Given the description of an element on the screen output the (x, y) to click on. 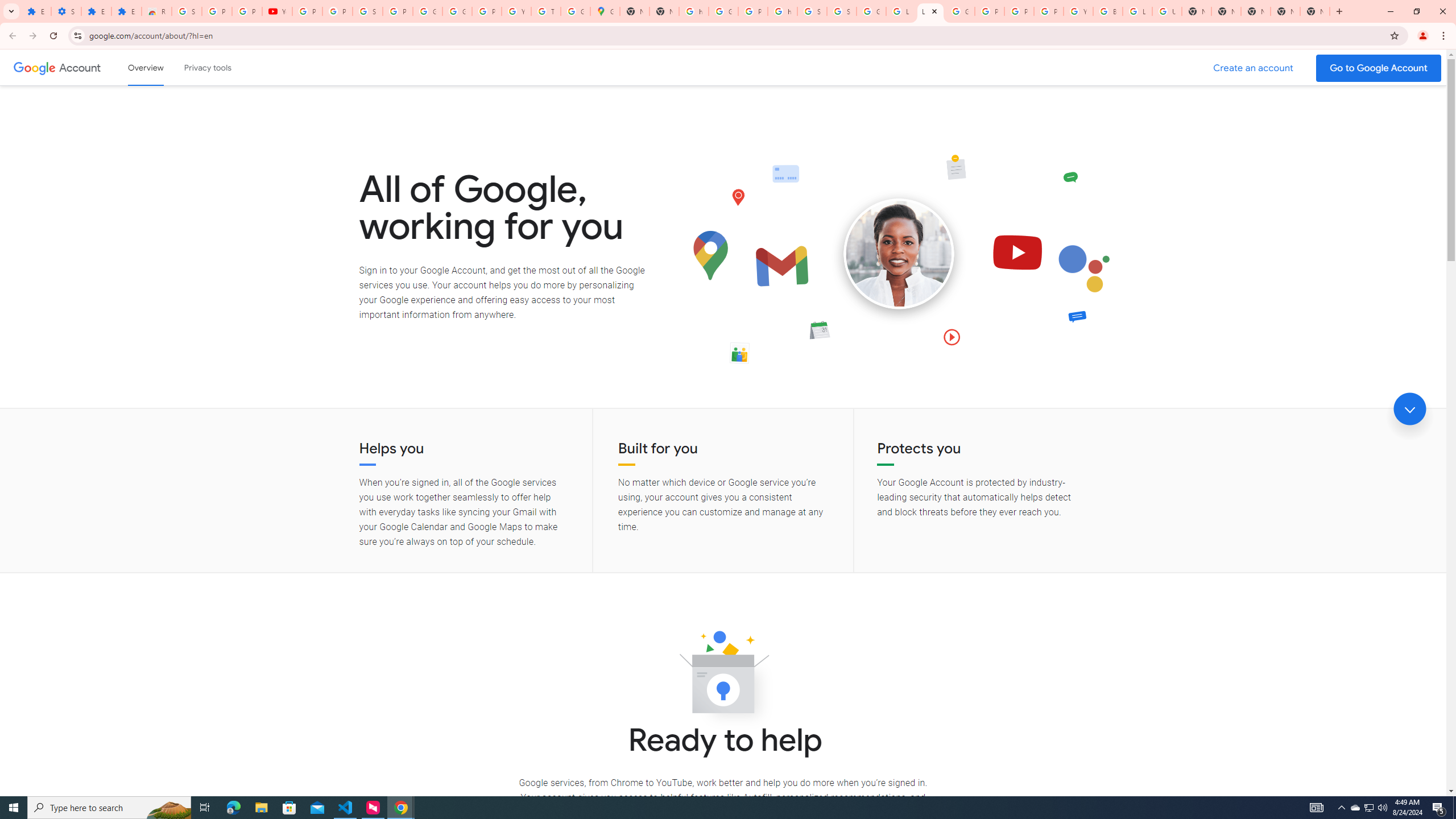
Google Maps (604, 11)
Sign in - Google Accounts (367, 11)
Google Account (426, 11)
Privacy Help Center - Policies Help (1018, 11)
Sign in - Google Accounts (841, 11)
New Tab (1314, 11)
Go to your Google Account (1378, 67)
